Given the description of an element on the screen output the (x, y) to click on. 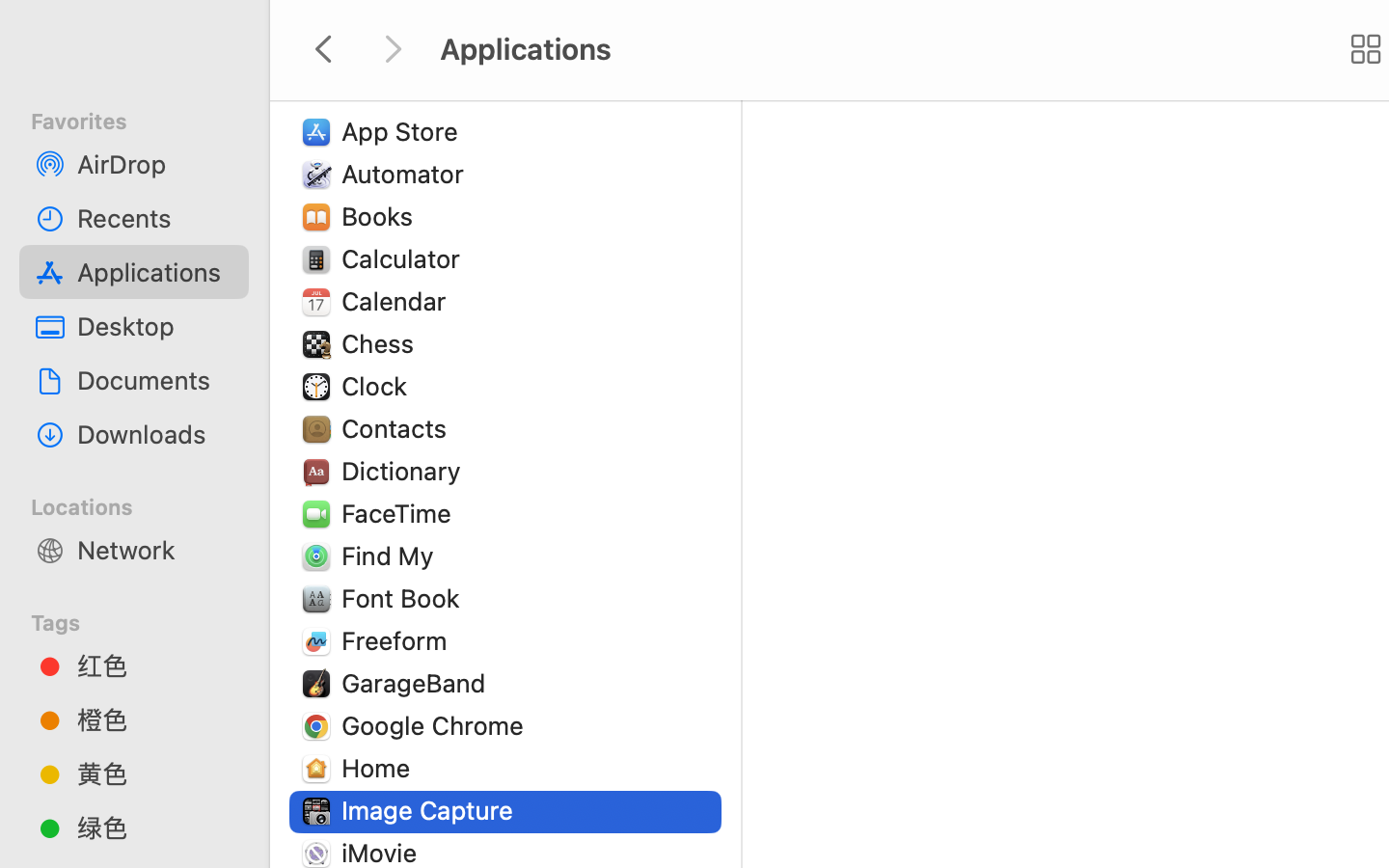
Desktop Element type: AXStaticText (155, 325)
Font Book Element type: AXTextField (404, 597)
Image Capture Element type: AXTextField (430, 809)
Applications Element type: AXStaticText (155, 271)
Documents Element type: AXStaticText (155, 379)
